Given the description of an element on the screen output the (x, y) to click on. 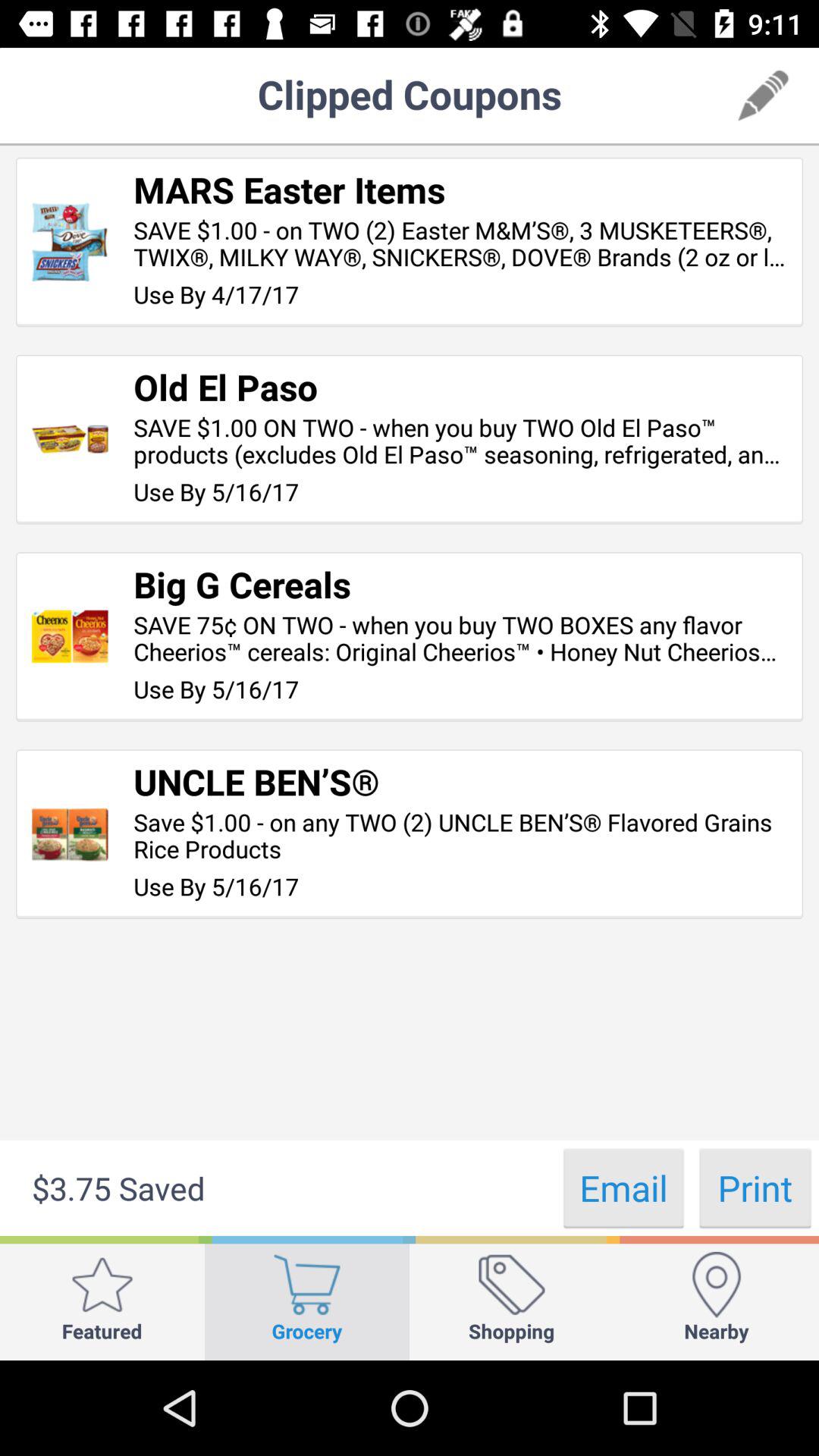
scroll until the email icon (623, 1187)
